Given the description of an element on the screen output the (x, y) to click on. 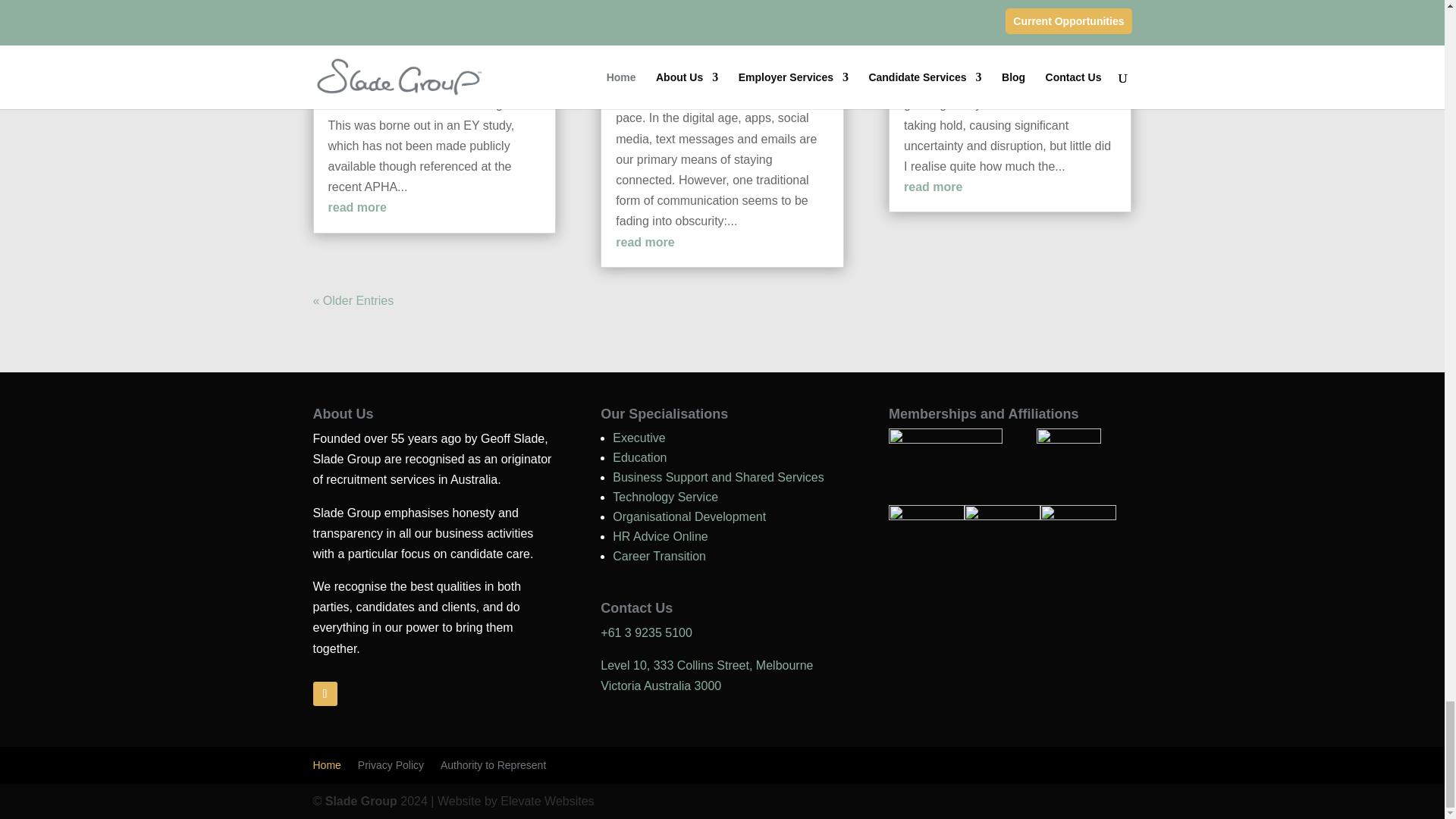
Posts by Losh Pandithasekara (688, 10)
Follow on LinkedIn (324, 693)
